Given the description of an element on the screen output the (x, y) to click on. 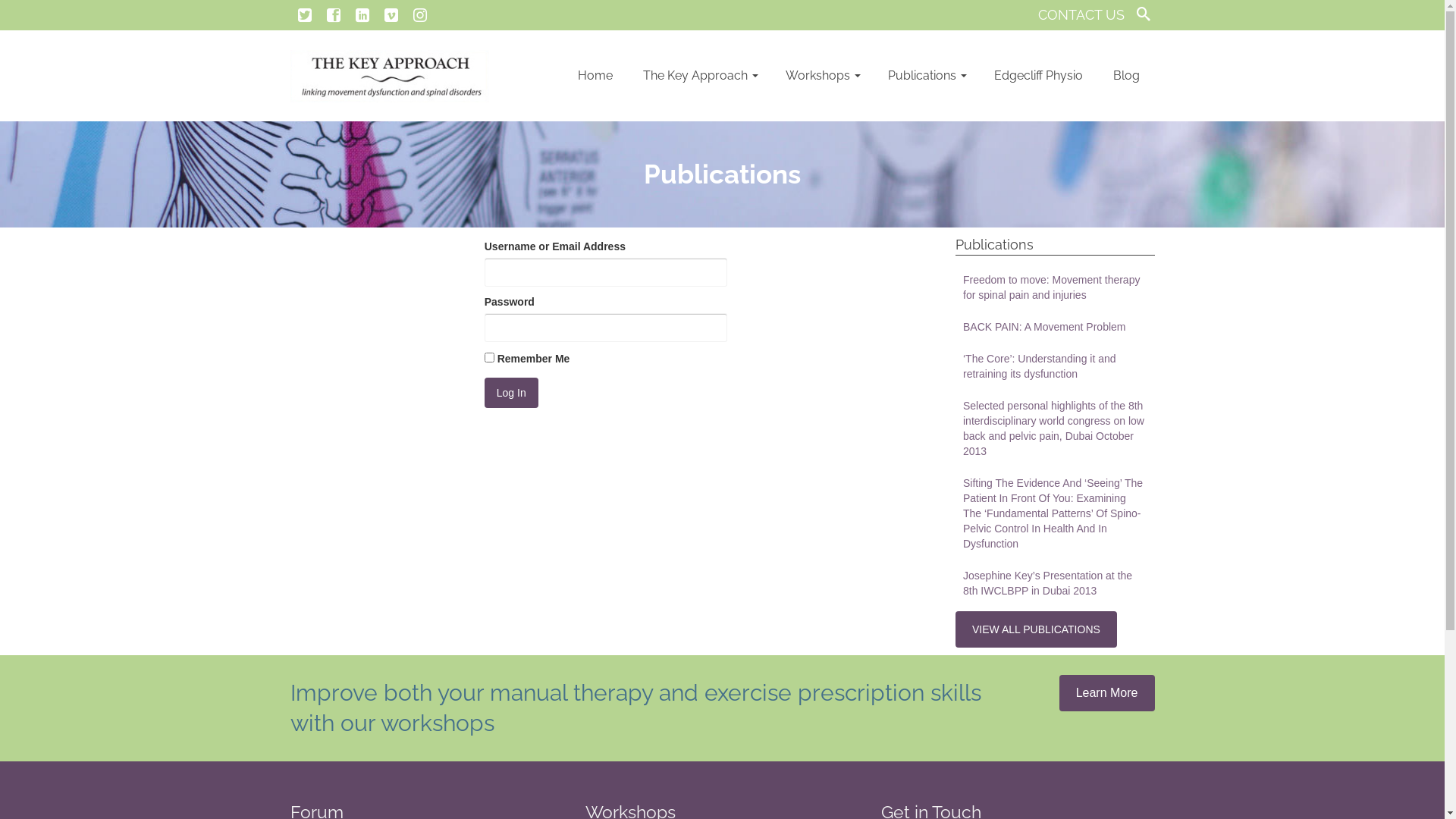
Home Element type: text (594, 75)
BACK PAIN: A Movement Problem Element type: text (1054, 326)
The Key Approach Element type: text (698, 75)
Log In Element type: text (511, 392)
Blog Element type: text (1126, 75)
Workshops Element type: text (821, 75)
Publications Element type: text (925, 75)
CONTACT US Element type: text (1080, 15)
Edgecliff Physio Element type: text (1037, 75)
Learn More Element type: text (1106, 692)
VIEW ALL PUBLICATIONS Element type: text (1036, 629)
